Given the description of an element on the screen output the (x, y) to click on. 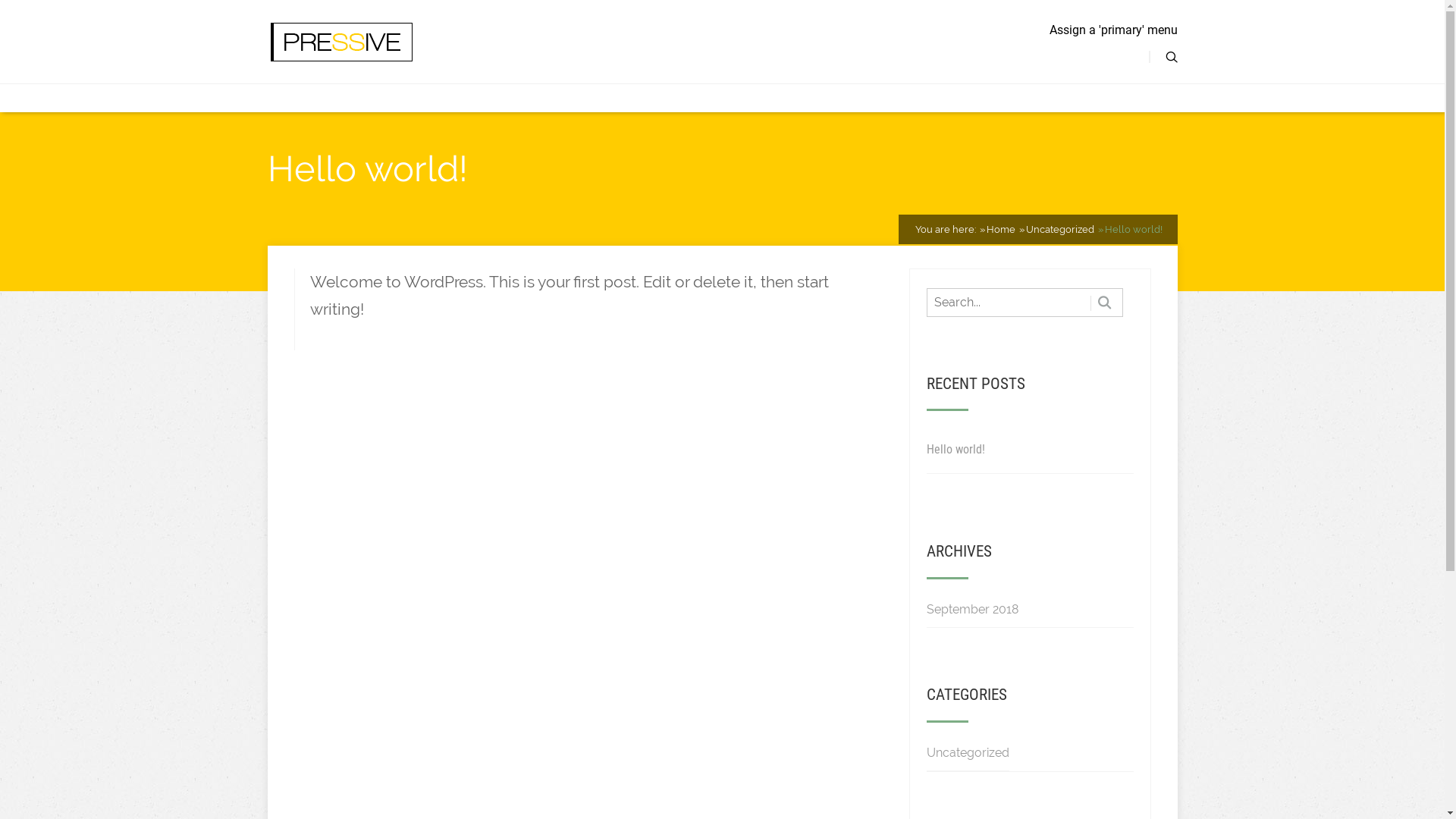
Uncategorized Element type: text (967, 753)
Home Element type: text (999, 228)
Hello world! Element type: text (955, 449)
Uncategorized Element type: text (1059, 228)
September 2018 Element type: text (972, 609)
